Given the description of an element on the screen output the (x, y) to click on. 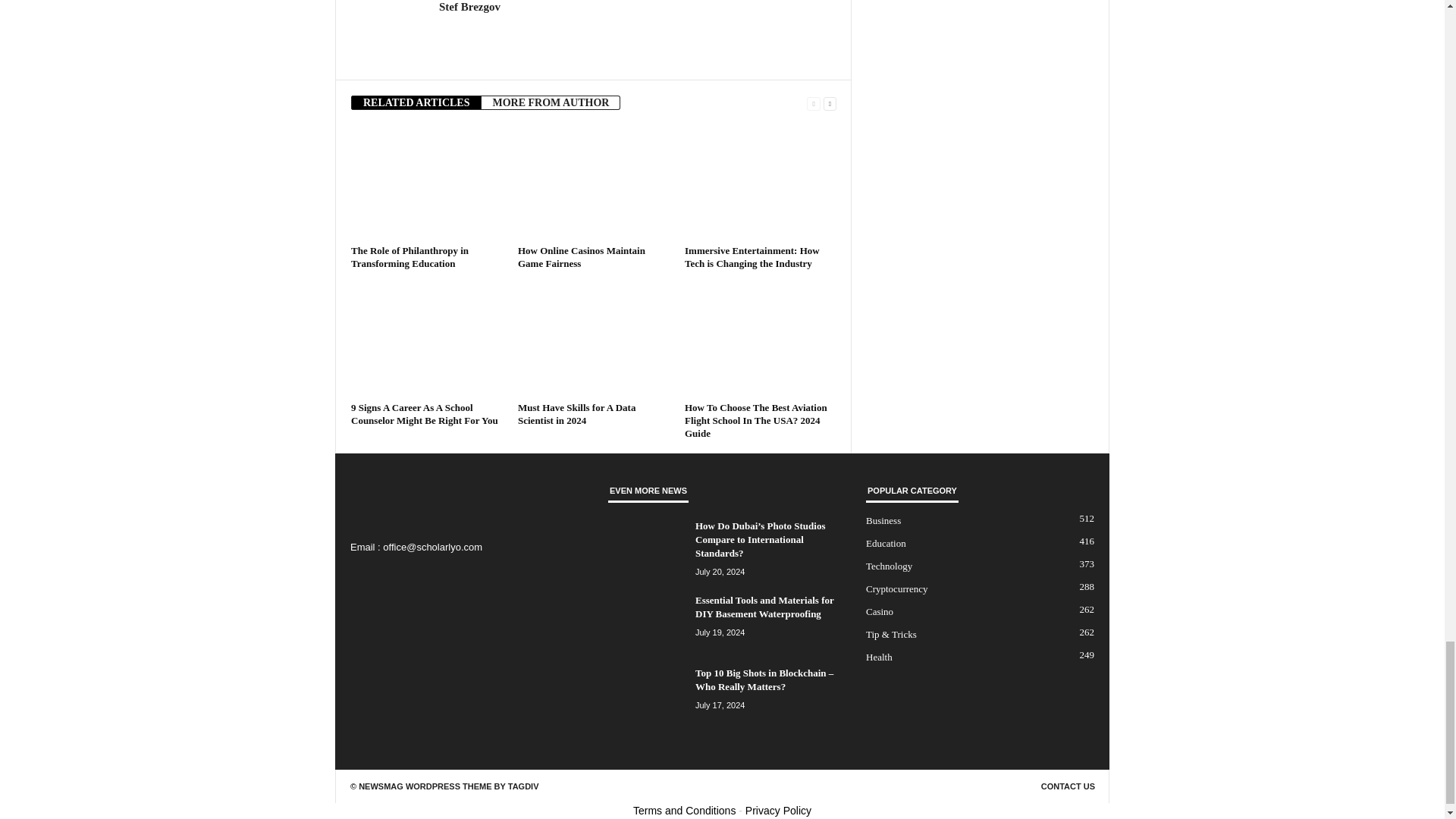
How Online Casinos Maintain Game Fairness (593, 182)
The Role of Philanthropy in Transforming Education (426, 182)
Immersive Entertainment: How Tech is Changing the Industry (759, 182)
The Role of Philanthropy in Transforming Education (409, 256)
How Online Casinos Maintain Game Fairness (581, 256)
